Given the description of an element on the screen output the (x, y) to click on. 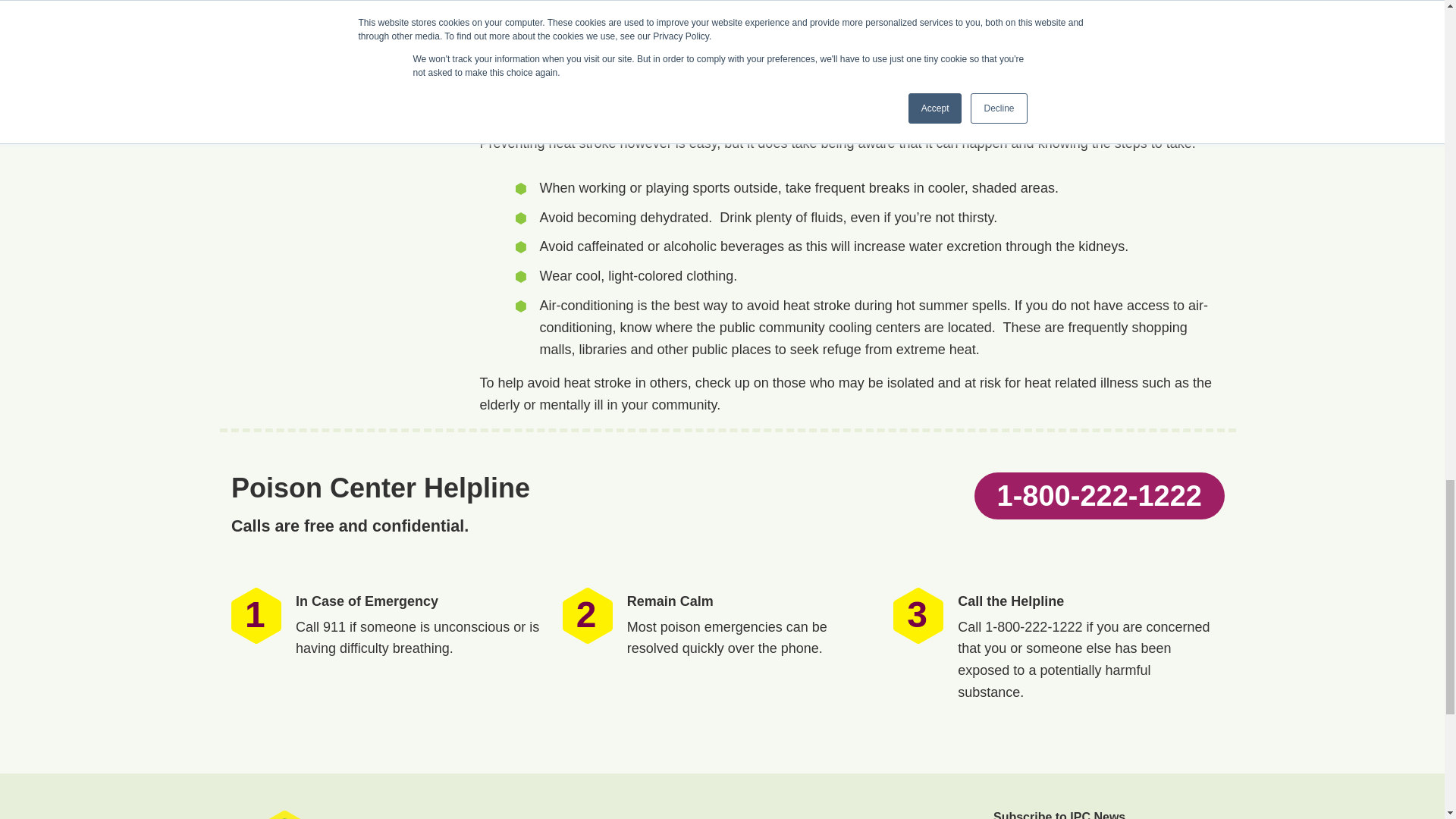
CAREERS (873, 814)
MY CHILD ATE... (667, 814)
1-800-222-1222 (1099, 495)
